Given the description of an element on the screen output the (x, y) to click on. 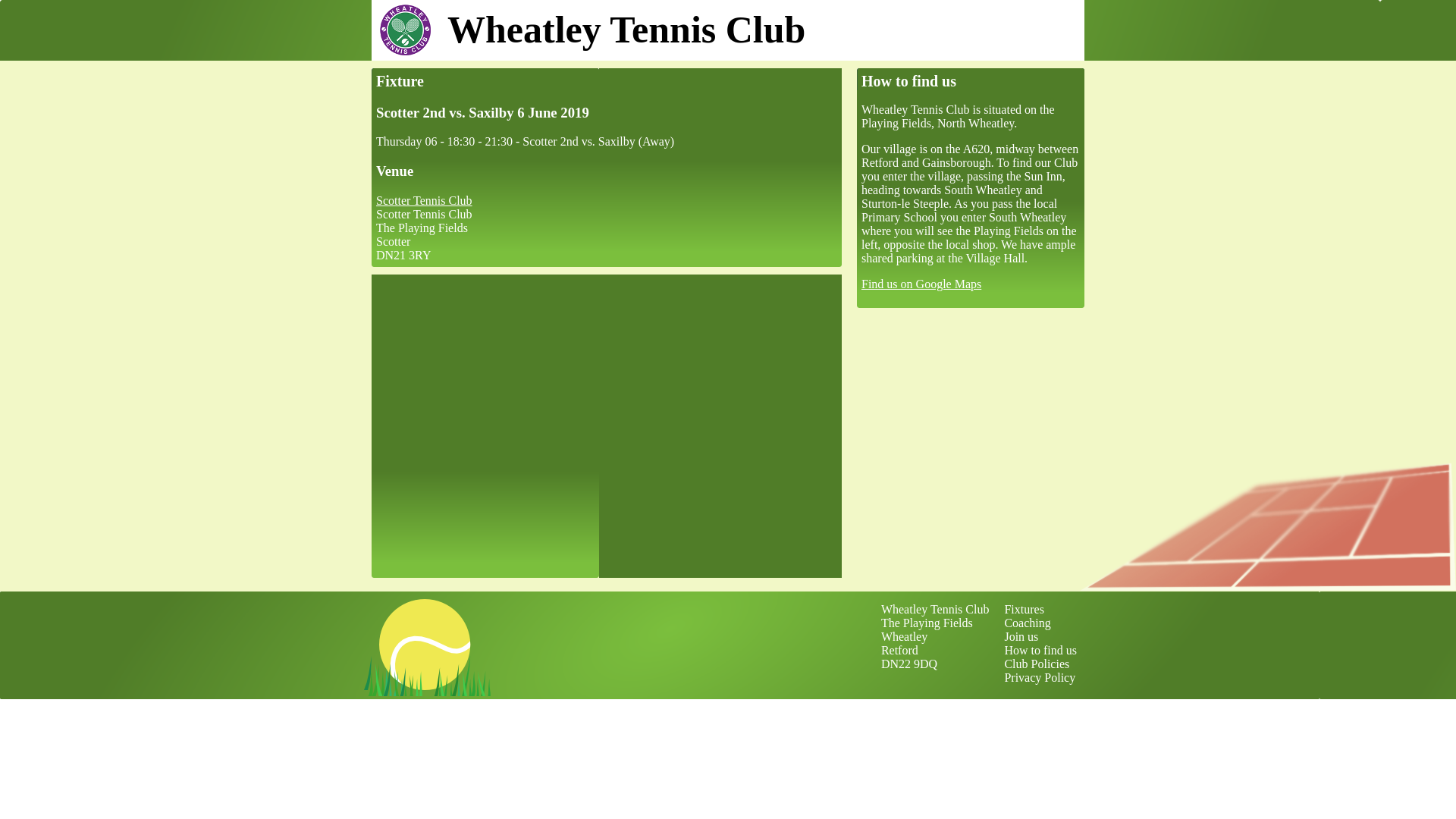
Fixtures (1023, 608)
Wheatley Tennis Club (935, 608)
How to find us (1040, 649)
Coaching (1026, 622)
Find us on Google Maps (921, 283)
Join us (1021, 635)
Club Policies (1036, 663)
Wheatley Tennis Club (727, 29)
Privacy Policy (1039, 676)
Scotter Tennis Club (423, 200)
